Given the description of an element on the screen output the (x, y) to click on. 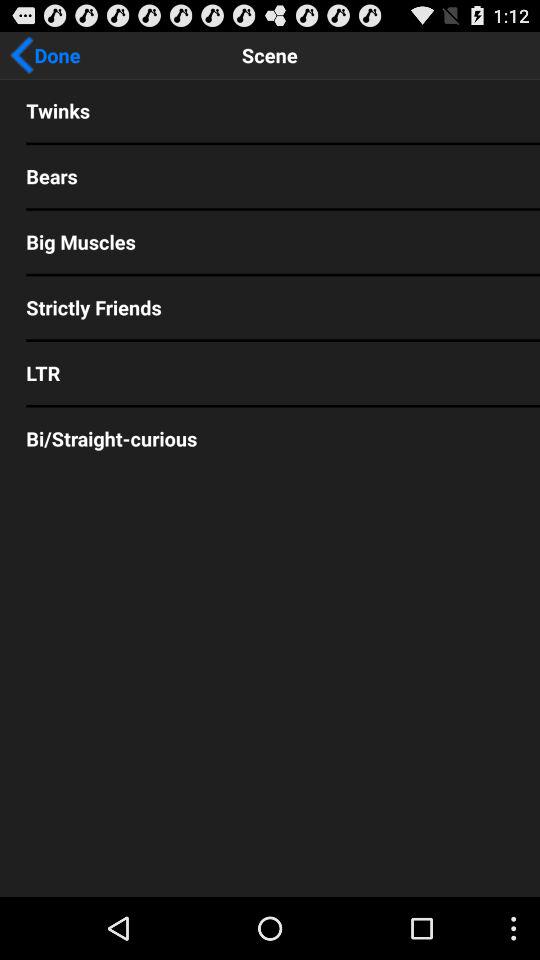
click big muscles (270, 241)
